Given the description of an element on the screen output the (x, y) to click on. 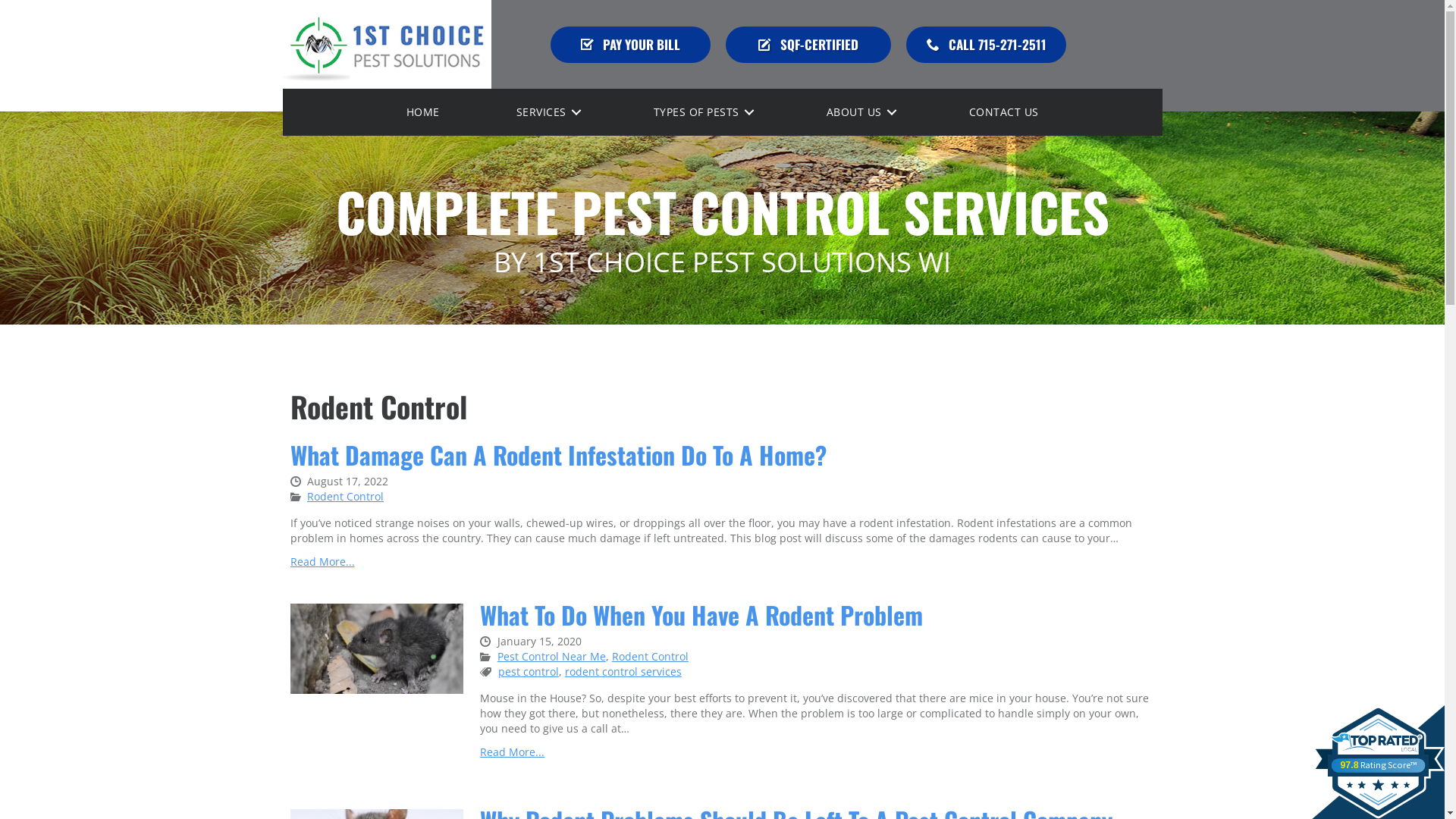
ABOUT US Element type: text (859, 112)
HOME Element type: text (422, 112)
What Damage Can A Rodent Infestation Do To A Home? Element type: text (557, 454)
What To Do When You Have A Rodent Problem Element type: text (701, 614)
pest control Element type: text (528, 671)
Rodent Control Element type: text (649, 656)
Pest Control Near Me Element type: text (551, 656)
Read More... Element type: text (321, 561)
mobile-logo-5bedeb7be3464 Element type: hover (385, 44)
TYPES OF PESTS Element type: text (701, 112)
Rodent Control Element type: text (345, 496)
SQF-CERTIFIED Element type: text (808, 43)
What To Do When You Have a Rodent Problem Element type: hover (375, 647)
PAY YOUR BILL Element type: text (630, 43)
SERVICES Element type: text (545, 112)
CONTACT US Element type: text (1003, 112)
Read More... Element type: text (512, 751)
CALL 715-271-2511 Element type: text (986, 43)
rodent control services Element type: text (622, 671)
